Given the description of an element on the screen output the (x, y) to click on. 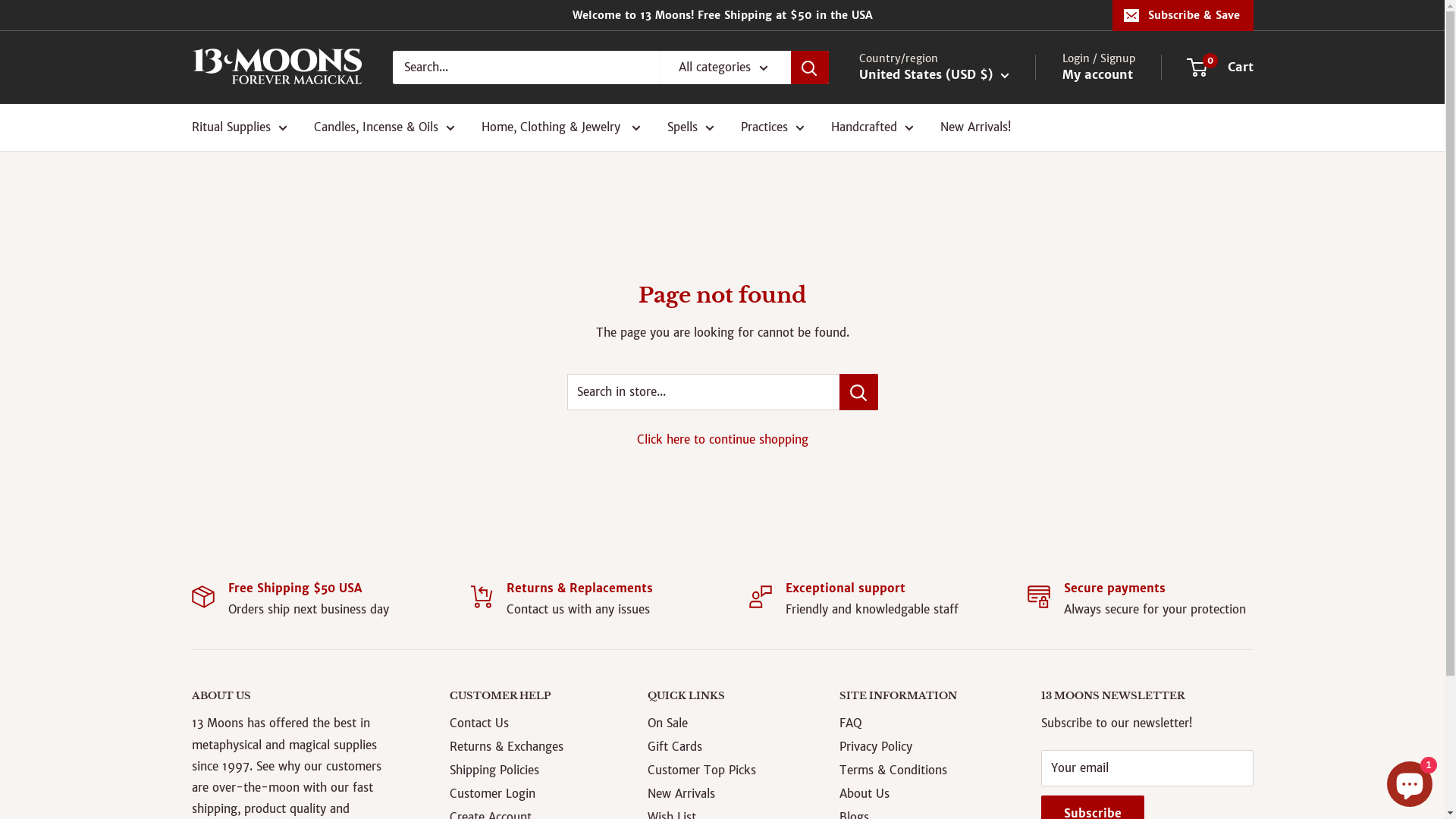
Privacy Policy Element type: text (913, 746)
Practices Element type: text (771, 127)
DK Element type: text (244, 755)
Candles, Incense & Oils Element type: text (384, 127)
IT Element type: text (920, 342)
Welcome to 13 Moons! Free Shipping at $50 in the USA Element type: text (651, 15)
IE Element type: text (920, 298)
BE Element type: text (244, 698)
Handcrafted Element type: text (872, 127)
Spells Element type: text (690, 127)
FAQ Element type: text (913, 722)
My account Element type: text (1096, 74)
JP Element type: text (920, 364)
SE Element type: text (920, 605)
About Us Element type: text (913, 793)
FR Element type: text (244, 793)
CA Element type: text (920, 167)
NL Element type: text (920, 429)
ABOUT US Element type: text (293, 695)
13 Moons Element type: text (276, 67)
NO Element type: text (920, 473)
IL Element type: text (920, 320)
United States (USD $) Element type: text (933, 74)
CA Element type: text (244, 717)
Ritual Supplies Element type: text (238, 127)
Contact Us Element type: text (521, 722)
Shipping Policies Element type: text (521, 769)
PL Element type: text (920, 495)
New Arrivals! Element type: text (975, 127)
FI Element type: text (920, 233)
SG Element type: text (920, 539)
Returns & Exchanges Element type: text (521, 746)
FI Element type: text (244, 774)
Shopify online store chat Element type: hover (1409, 780)
KR Element type: text (920, 561)
GB Element type: text (920, 670)
PT Element type: text (920, 517)
CUSTOMER HELP Element type: text (521, 695)
Customer Login Element type: text (521, 793)
NZ Element type: text (920, 451)
AT Element type: text (920, 124)
CZ Element type: text (244, 736)
New Arrivals Element type: text (717, 793)
Home, Clothing & Jewelry Element type: text (560, 127)
BE Element type: text (920, 146)
FR Element type: text (920, 255)
QUICK LINKS Element type: text (717, 695)
Terms & Conditions Element type: text (913, 769)
MY Element type: text (920, 386)
HK Element type: text (920, 277)
Click here to continue shopping Element type: text (722, 439)
Gift Cards Element type: text (717, 746)
AE Element type: text (920, 649)
US Element type: text (920, 692)
DK Element type: text (920, 211)
0
Cart Element type: text (1219, 67)
AT Element type: text (244, 679)
ES Element type: text (920, 583)
CZ Element type: text (920, 189)
CH Element type: text (920, 627)
Customer Top Picks Element type: text (717, 769)
MX Element type: text (920, 408)
On Sale Element type: text (717, 722)
Subscribe & Save Element type: text (1181, 15)
SITE INFORMATION Element type: text (913, 695)
